Given the description of an element on the screen output the (x, y) to click on. 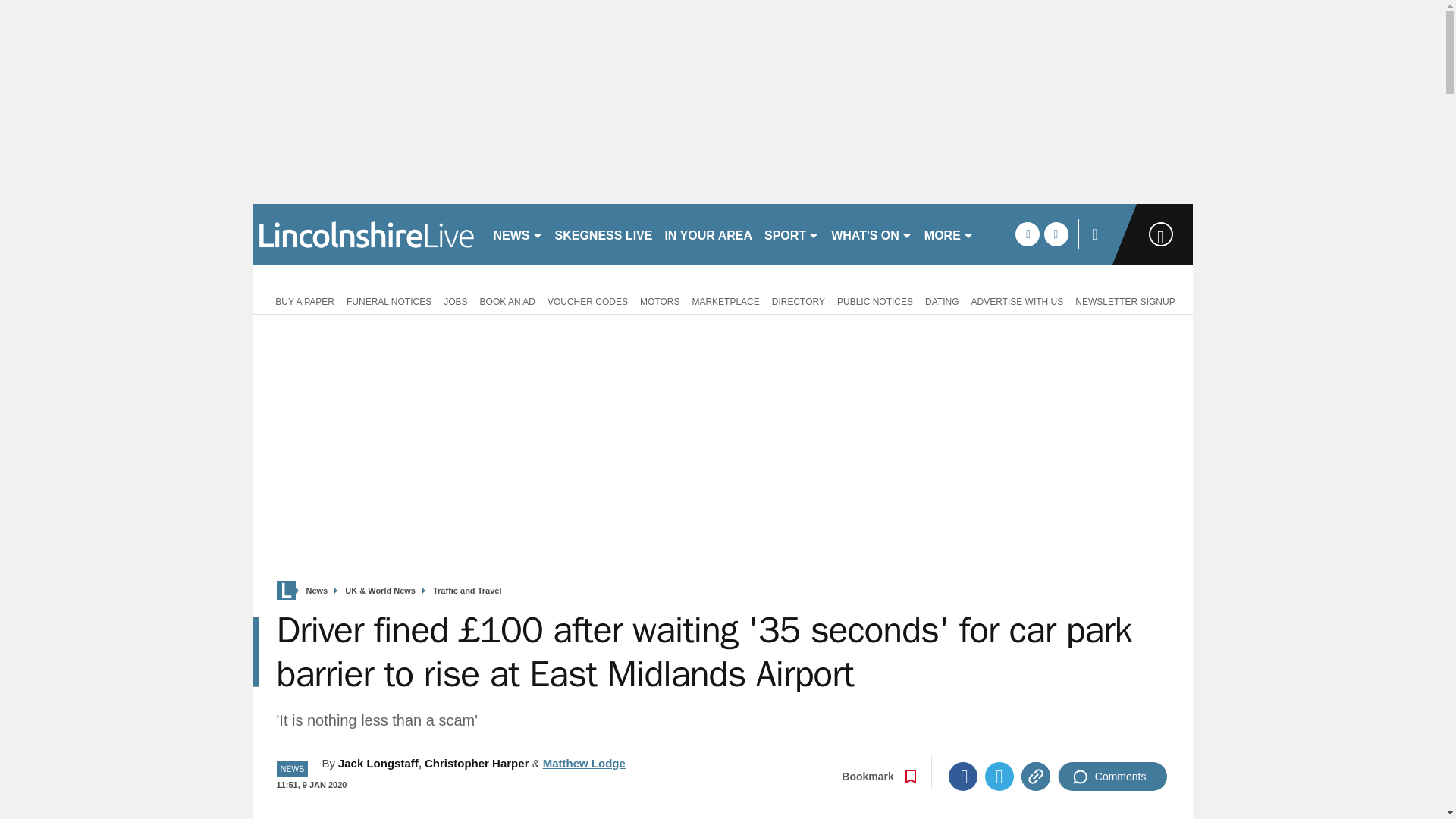
SPORT (791, 233)
twitter (1055, 233)
WHAT'S ON (871, 233)
Comments (1112, 776)
SKEGNESS LIVE (603, 233)
NEWS (517, 233)
Twitter (999, 776)
lincolnshirelive (365, 233)
IN YOUR AREA (708, 233)
BUY A PAPER (301, 300)
